Given the description of an element on the screen output the (x, y) to click on. 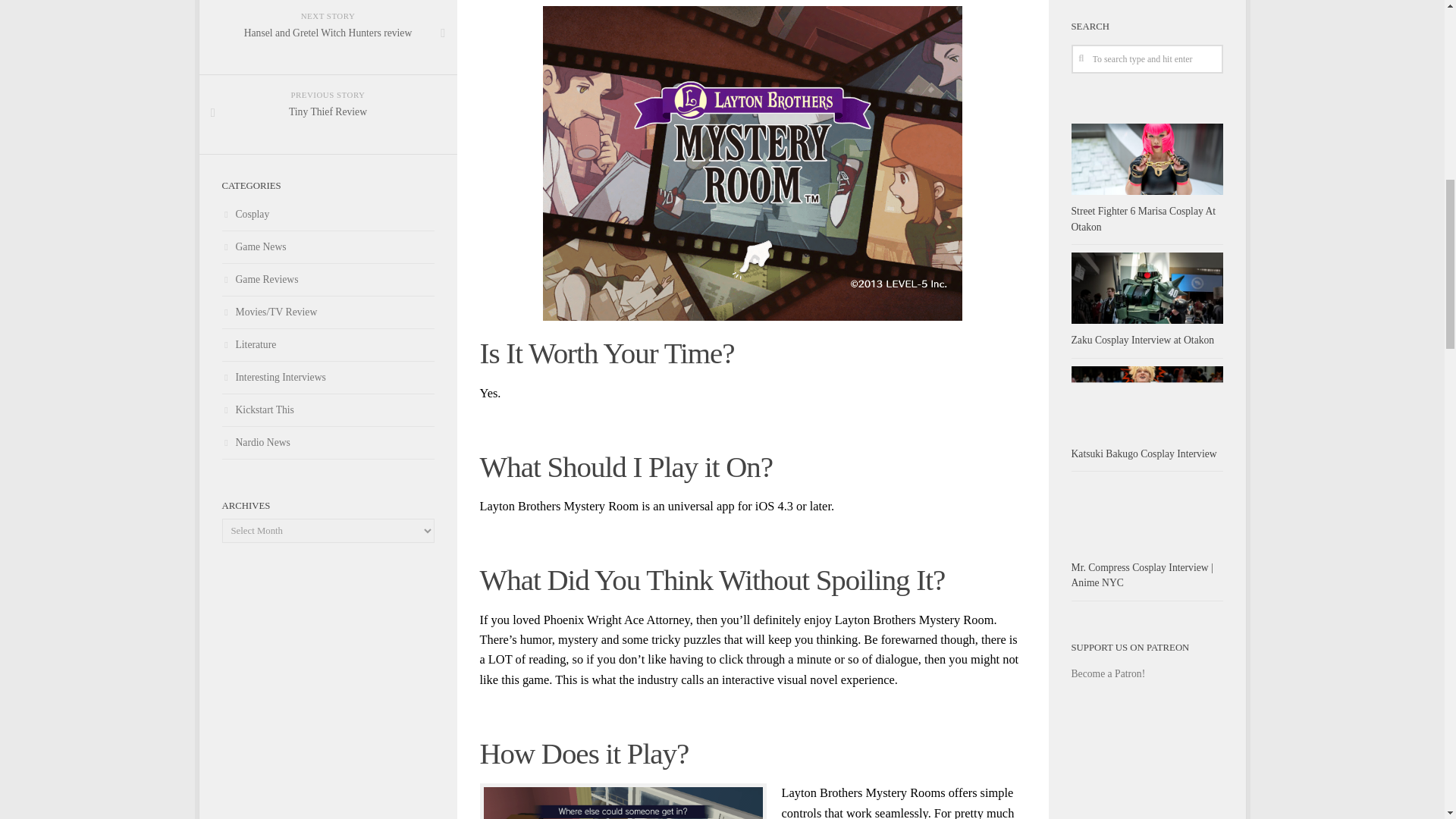
Nardio News (327, 442)
Permalink to Zaku Cosplay Interview at Otakon (1142, 339)
To search type and hit enter (1146, 59)
Permalink to Katsuki Bakugo Cosplay Interview (1142, 453)
Interesting Interviews (327, 377)
Permalink to Street Fighter 6 Marisa Cosplay At Otakon (327, 114)
Literature (1142, 218)
Street Fighter 6 Marisa Cosplay At Otakon (327, 345)
